Given the description of an element on the screen output the (x, y) to click on. 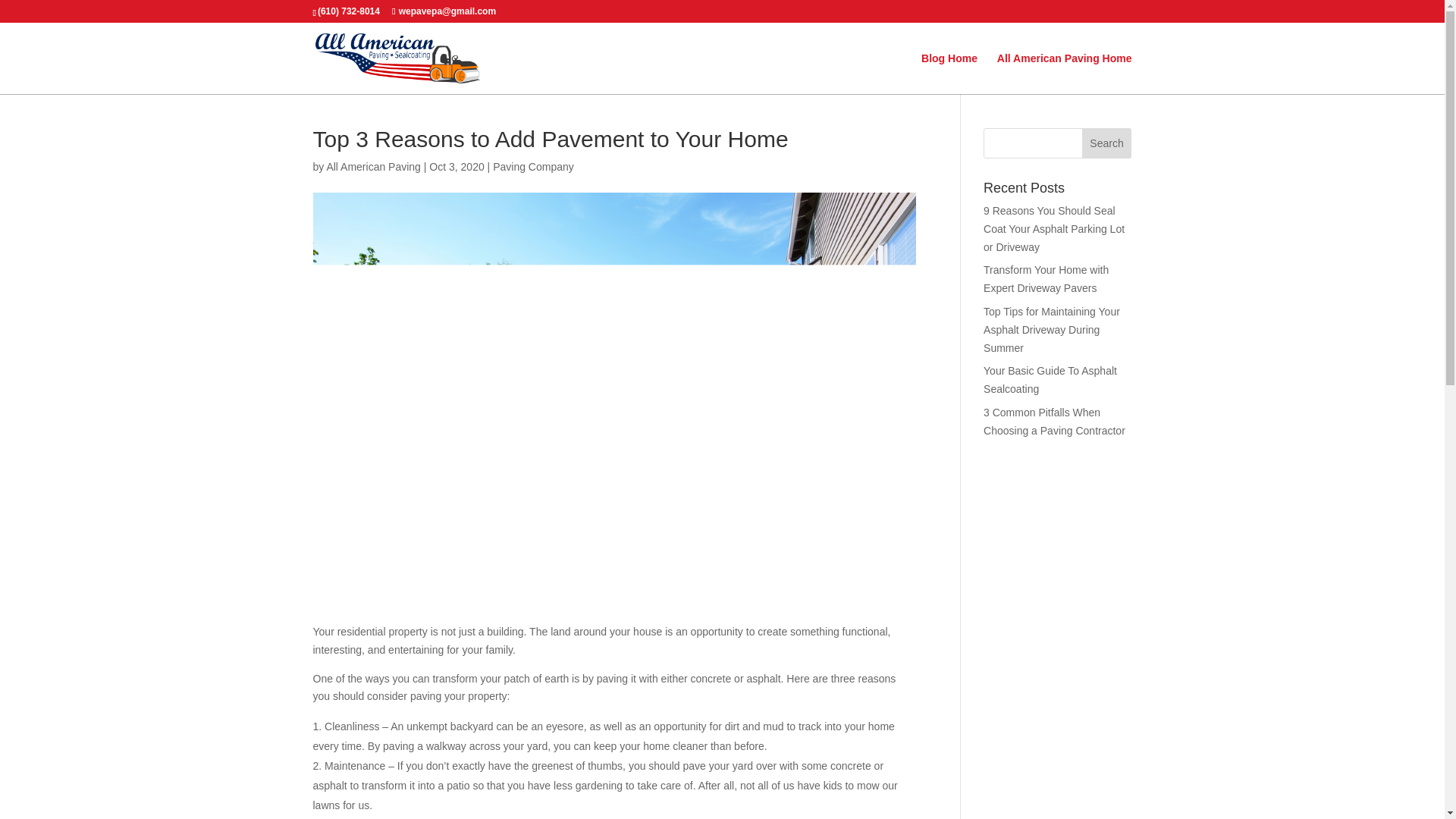
Search (1106, 142)
Top Tips for Maintaining Your Asphalt Driveway During Summer (1051, 329)
All American Paving (373, 166)
Transform Your Home with Expert Driveway Pavers (1046, 278)
All American Paving Home (1064, 73)
Blog Home (948, 73)
3 Common Pitfalls When Choosing a Paving Contractor (1054, 421)
Posts by All American Paving (373, 166)
Search (1106, 142)
